Given the description of an element on the screen output the (x, y) to click on. 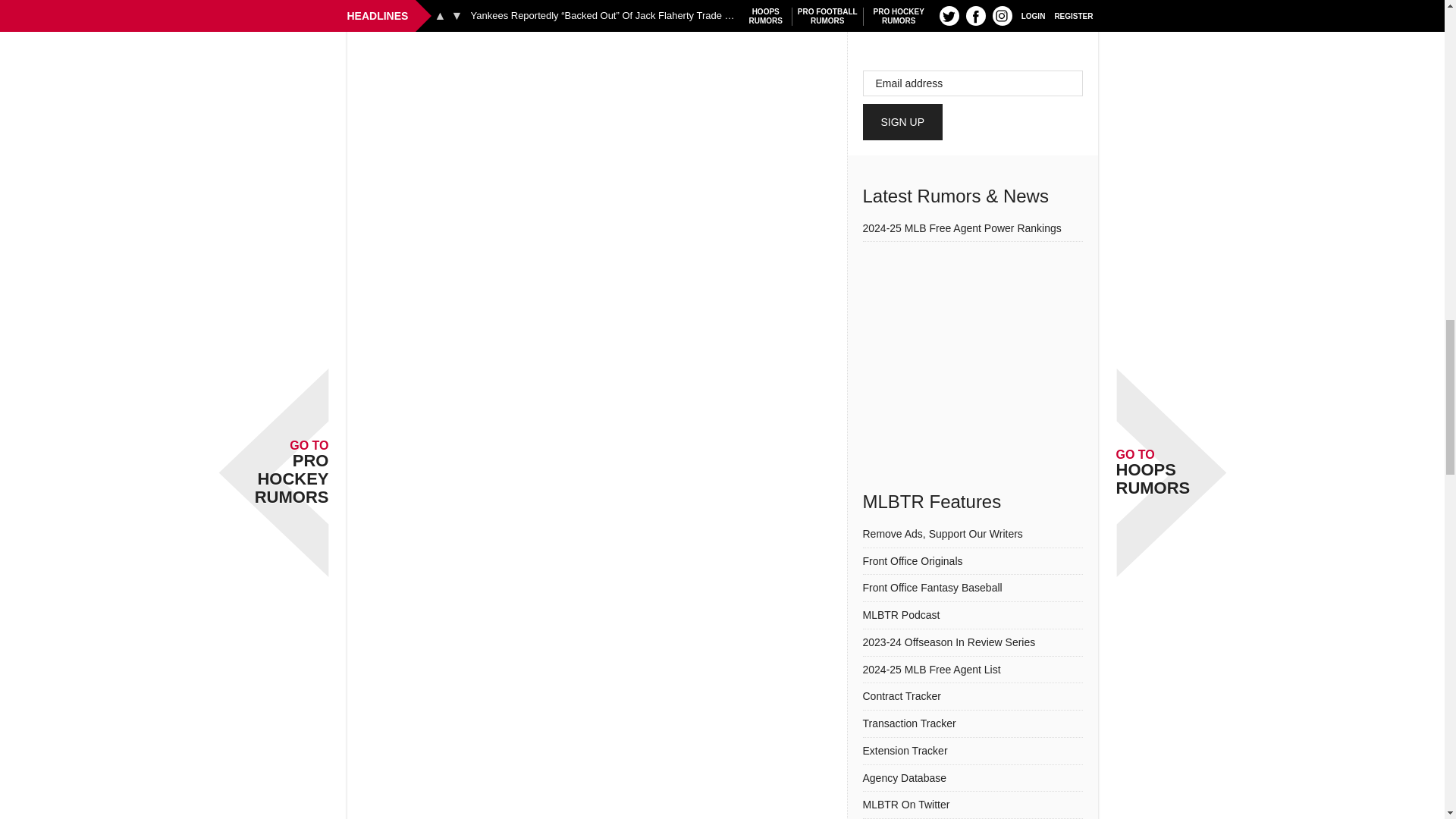
Sign Up (903, 122)
